Given the description of an element on the screen output the (x, y) to click on. 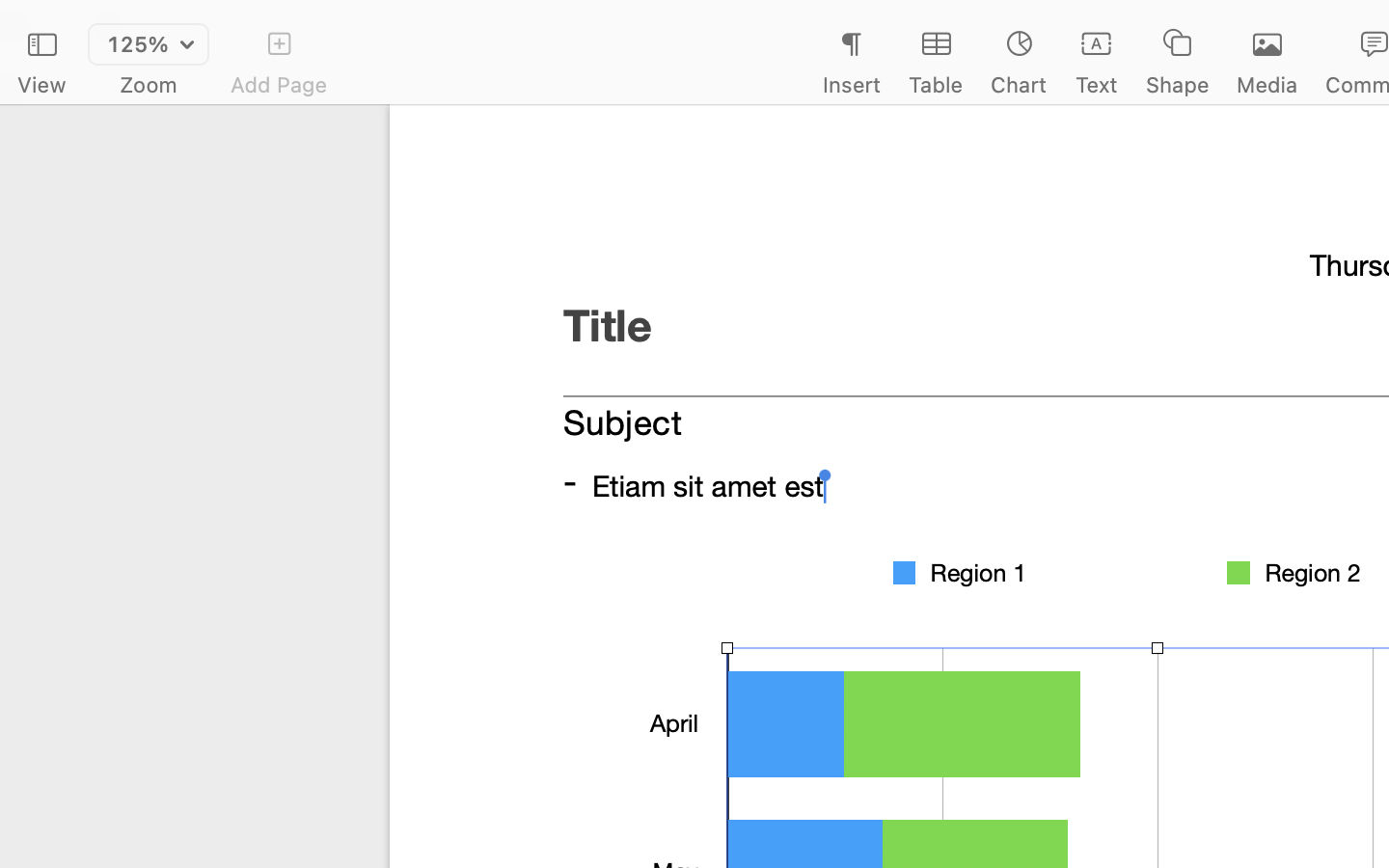
Learn More Element type: AXStaticText (1126, 618)
Untitled Element type: AXStaticText (1334, 24)
View Element type: AXStaticText (41, 84)
Click to link text boxes together. Element type: AXStaticText (1126, 568)
Zoom Element type: AXStaticText (148, 84)
